Given the description of an element on the screen output the (x, y) to click on. 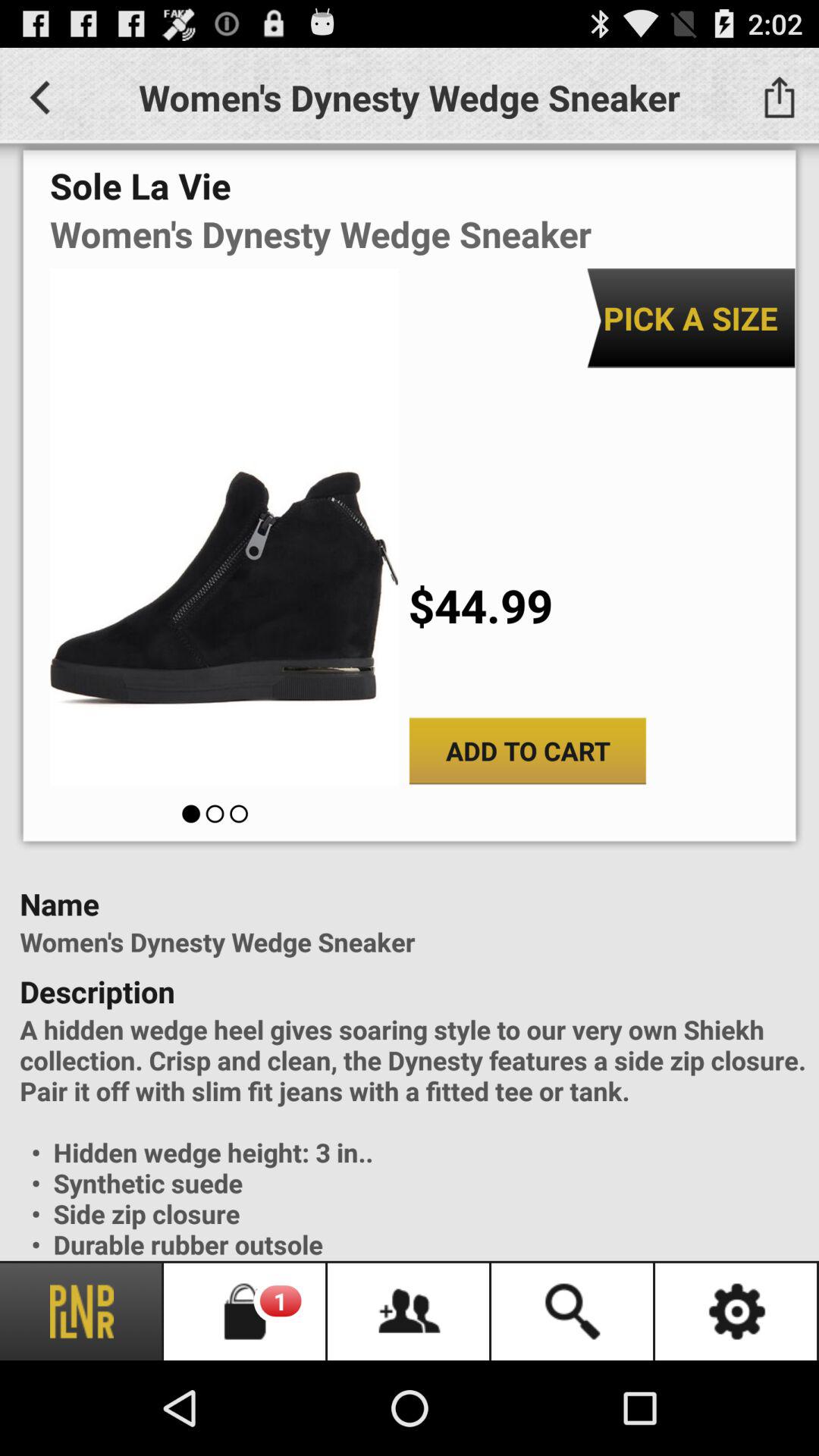
choose the pick a size item (690, 317)
